Given the description of an element on the screen output the (x, y) to click on. 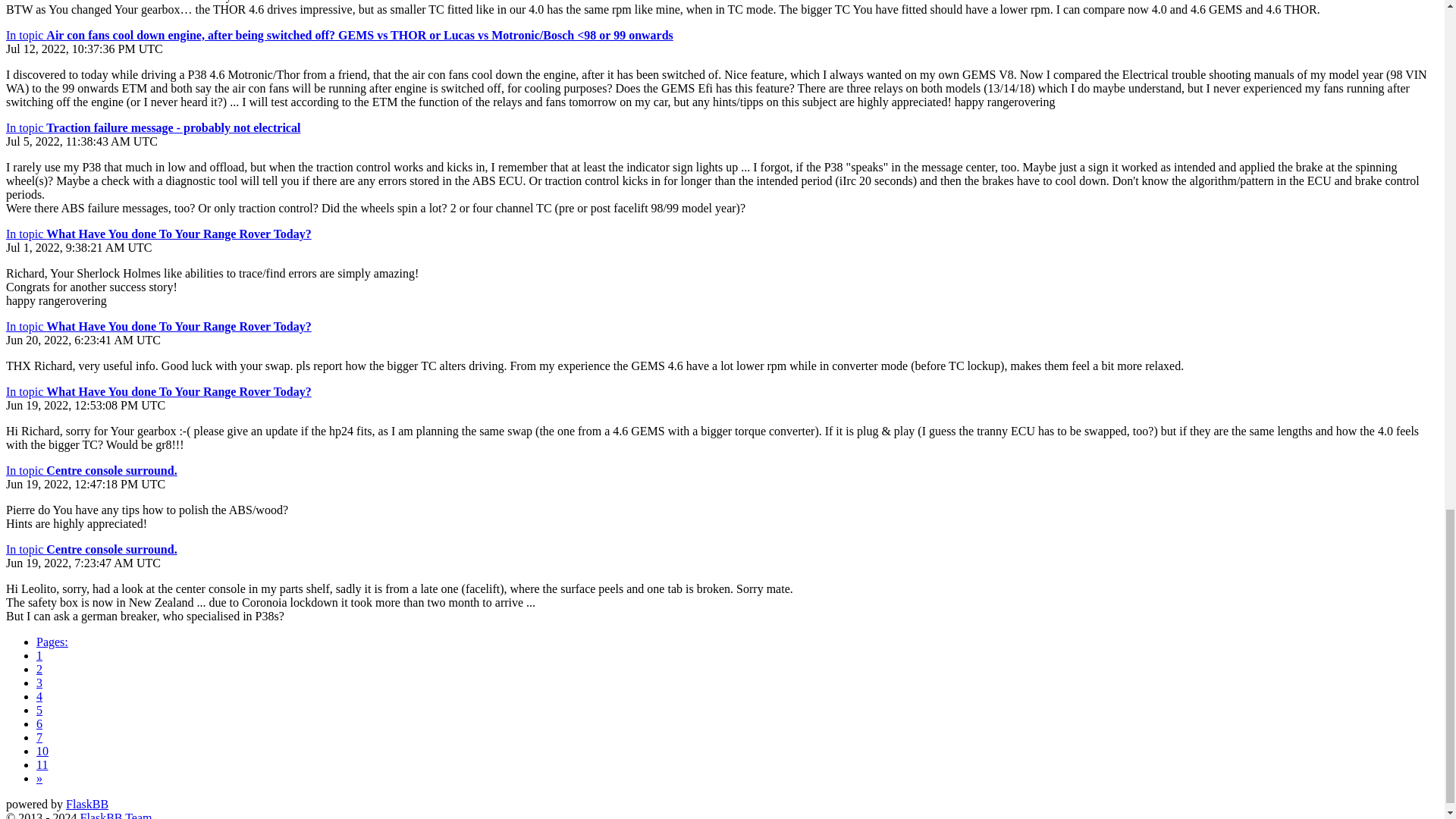
In topic Centre console surround. (91, 549)
In topic What Have You done To Your Range Rover Today? (158, 326)
In topic What Have You done To Your Range Rover Today? (158, 391)
In topic What Have You done To Your Range Rover Today? (158, 233)
Pages: (52, 641)
In topic Centre console surround. (91, 470)
In topic Traction failure message - probably not electrical (152, 127)
